Given the description of an element on the screen output the (x, y) to click on. 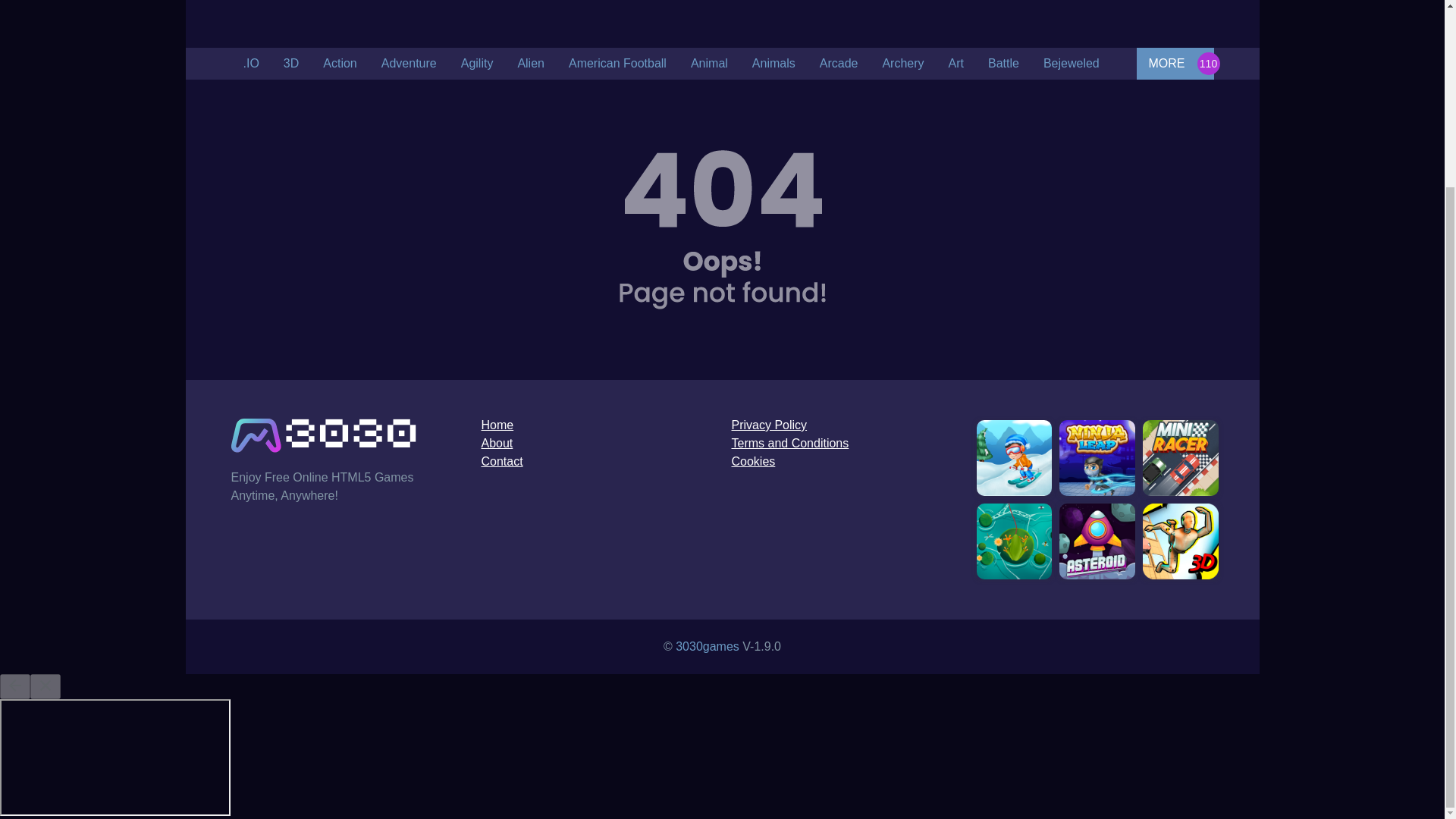
MORE (1173, 63)
Bejeweled (1071, 63)
Art (955, 63)
Archery (902, 63)
American Football (617, 63)
3D (290, 63)
Agility (476, 63)
Arcade (839, 63)
Alien (530, 63)
Adventure (408, 63)
Advertisement (721, 20)
Animal (708, 63)
Action (339, 63)
Animals (773, 63)
.IO (250, 63)
